Given the description of an element on the screen output the (x, y) to click on. 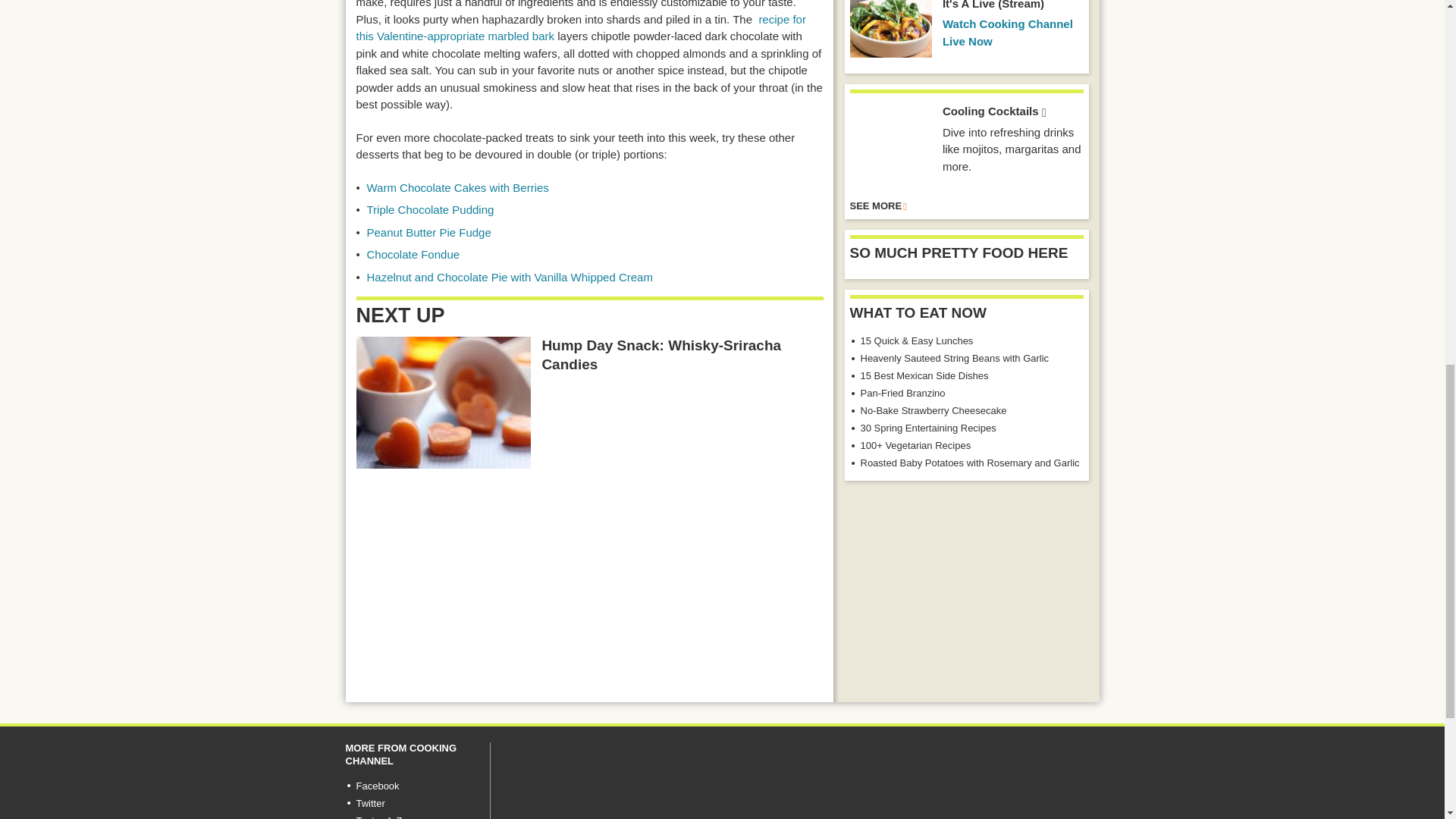
Peanut Butter Pie Fudge (429, 232)
Warm Chocolate Cakes with Berries (457, 187)
Triple Chocolate Pudding (430, 209)
Hump Day Snack: Whisky-Sriracha Candies (443, 402)
recipe for this Valentine-appropriate marbled bark (581, 28)
